Given the description of an element on the screen output the (x, y) to click on. 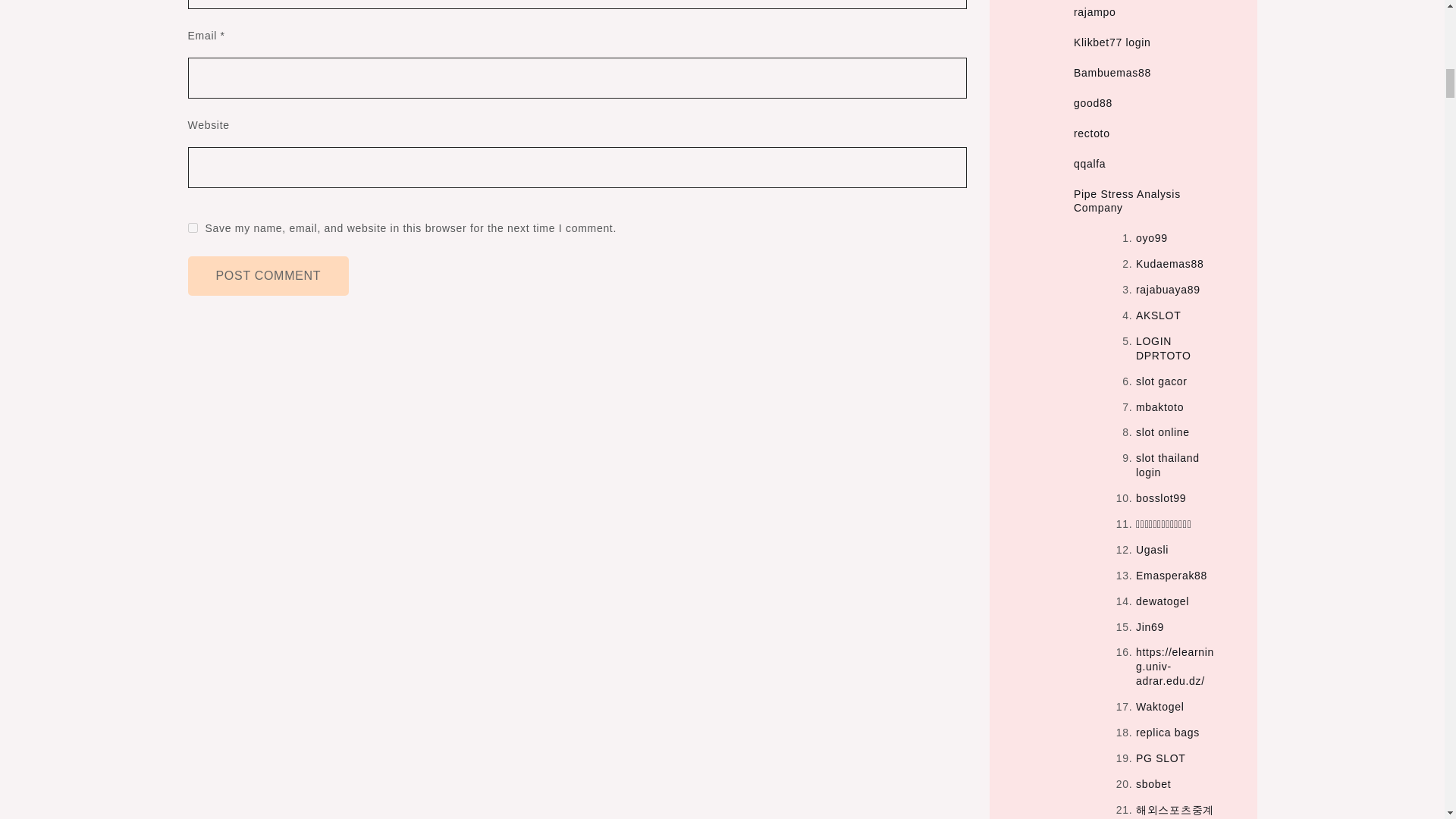
Post Comment (268, 275)
yes (192, 227)
Post Comment (268, 275)
